Given the description of an element on the screen output the (x, y) to click on. 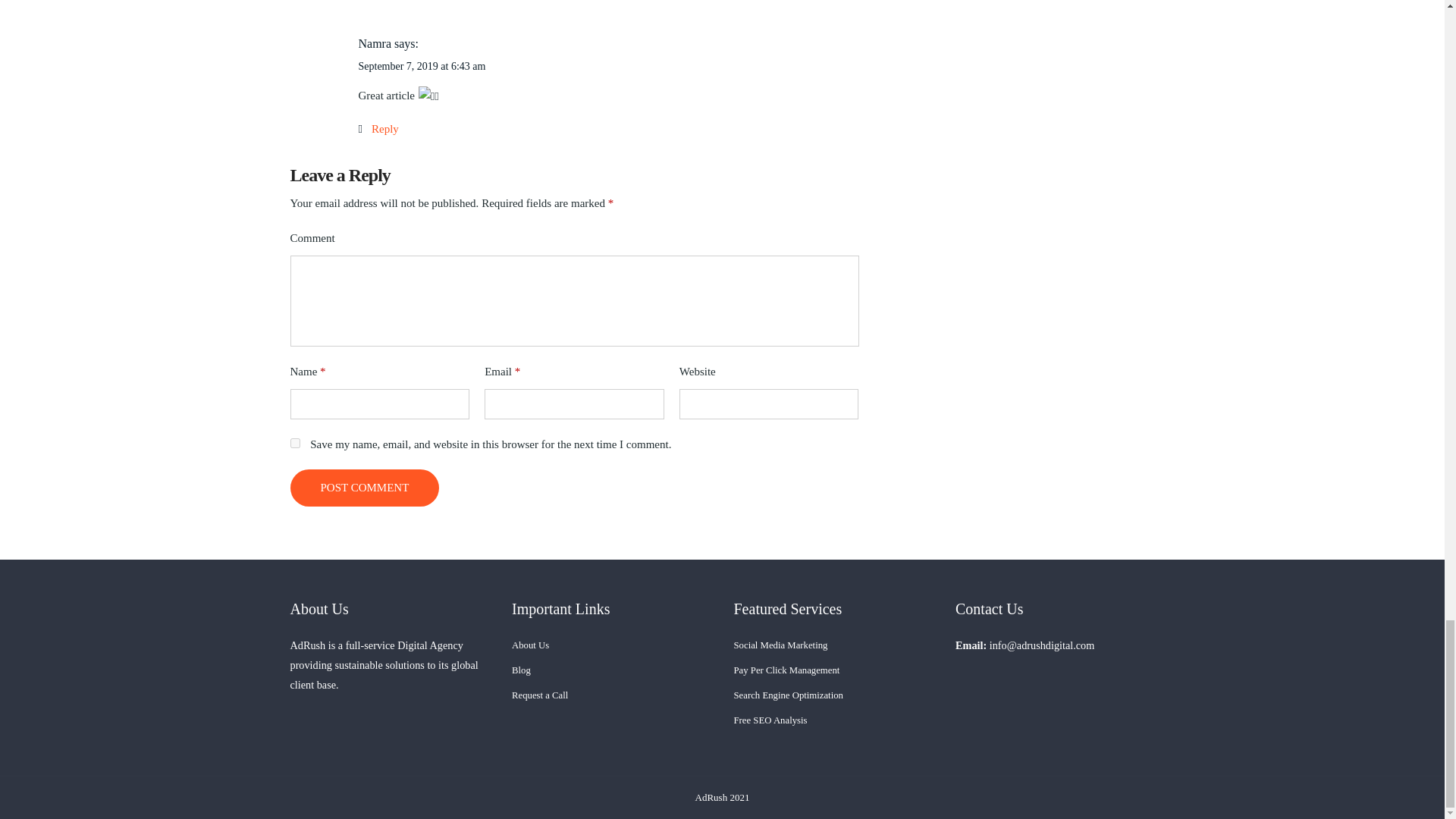
September 7, 2019 at 6:43 am (421, 66)
About Us (530, 644)
Request a Call (539, 695)
Search Engine Optimization (788, 695)
yes (294, 442)
POST COMMENT (364, 487)
